Given the description of an element on the screen output the (x, y) to click on. 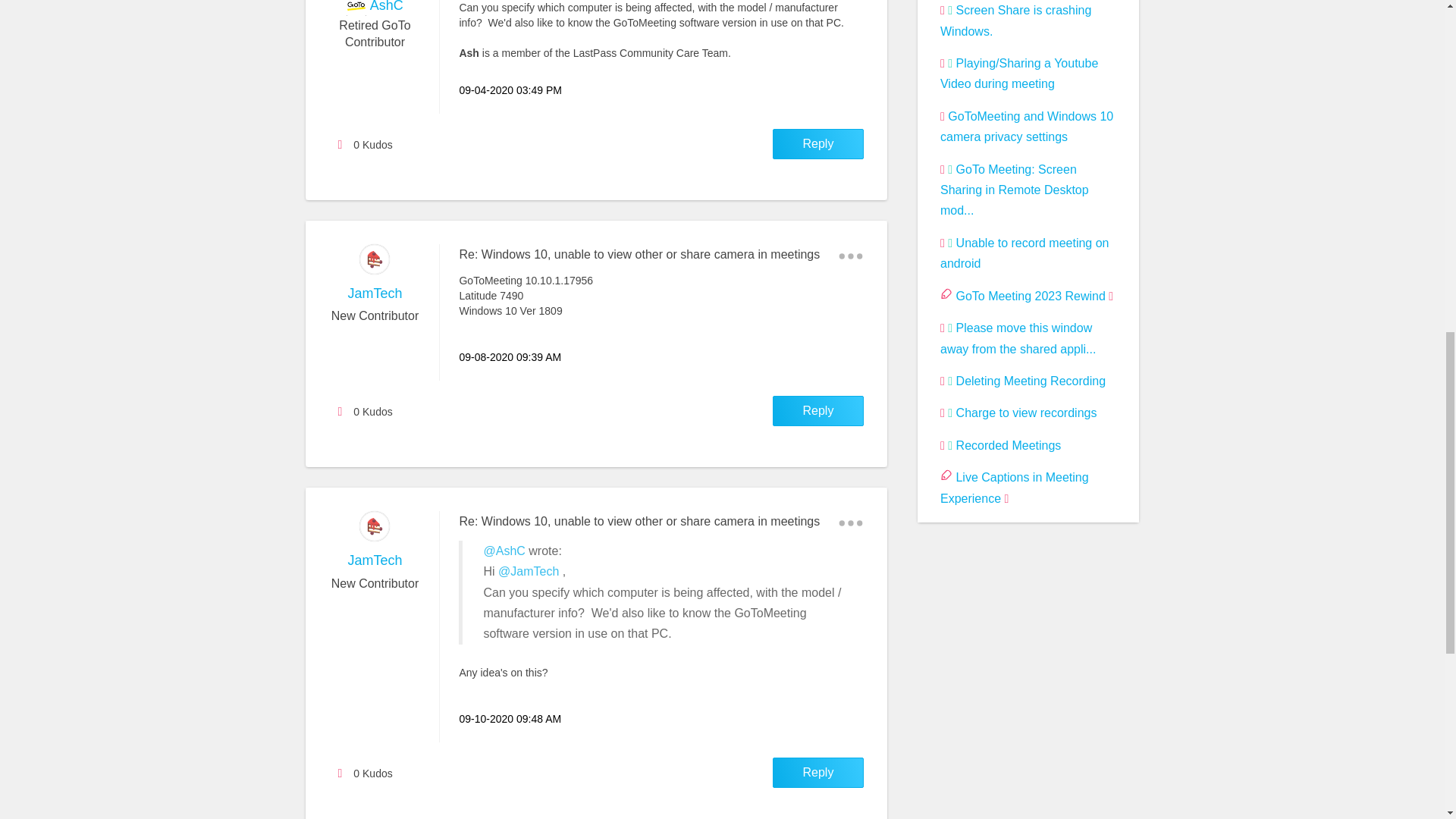
AshC (386, 6)
Reply (818, 143)
